Given the description of an element on the screen output the (x, y) to click on. 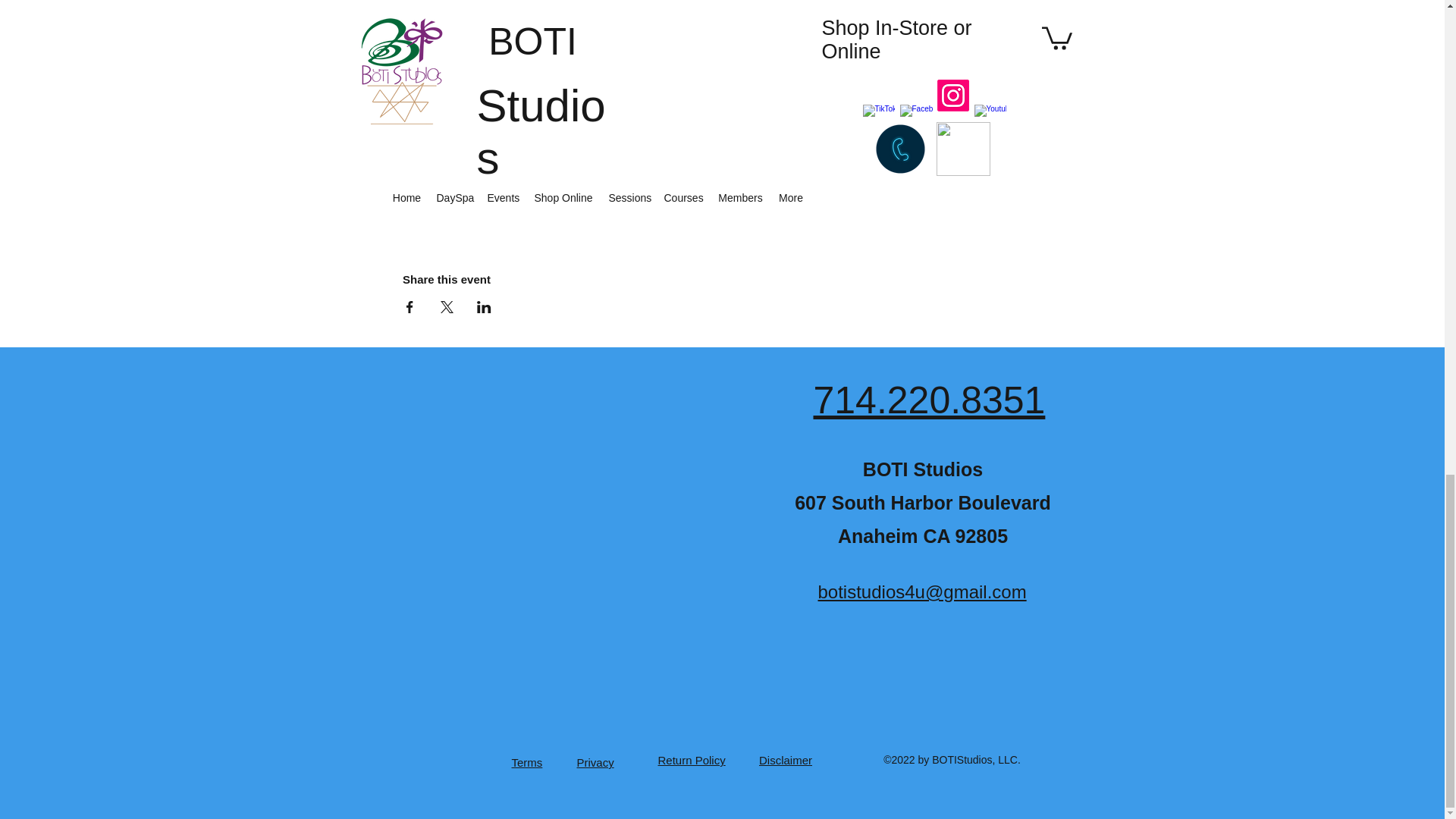
Return Policy (691, 759)
714.220.8351 (928, 400)
Disclaimer (785, 759)
Terms (526, 762)
Privacy (594, 762)
